Given the description of an element on the screen output the (x, y) to click on. 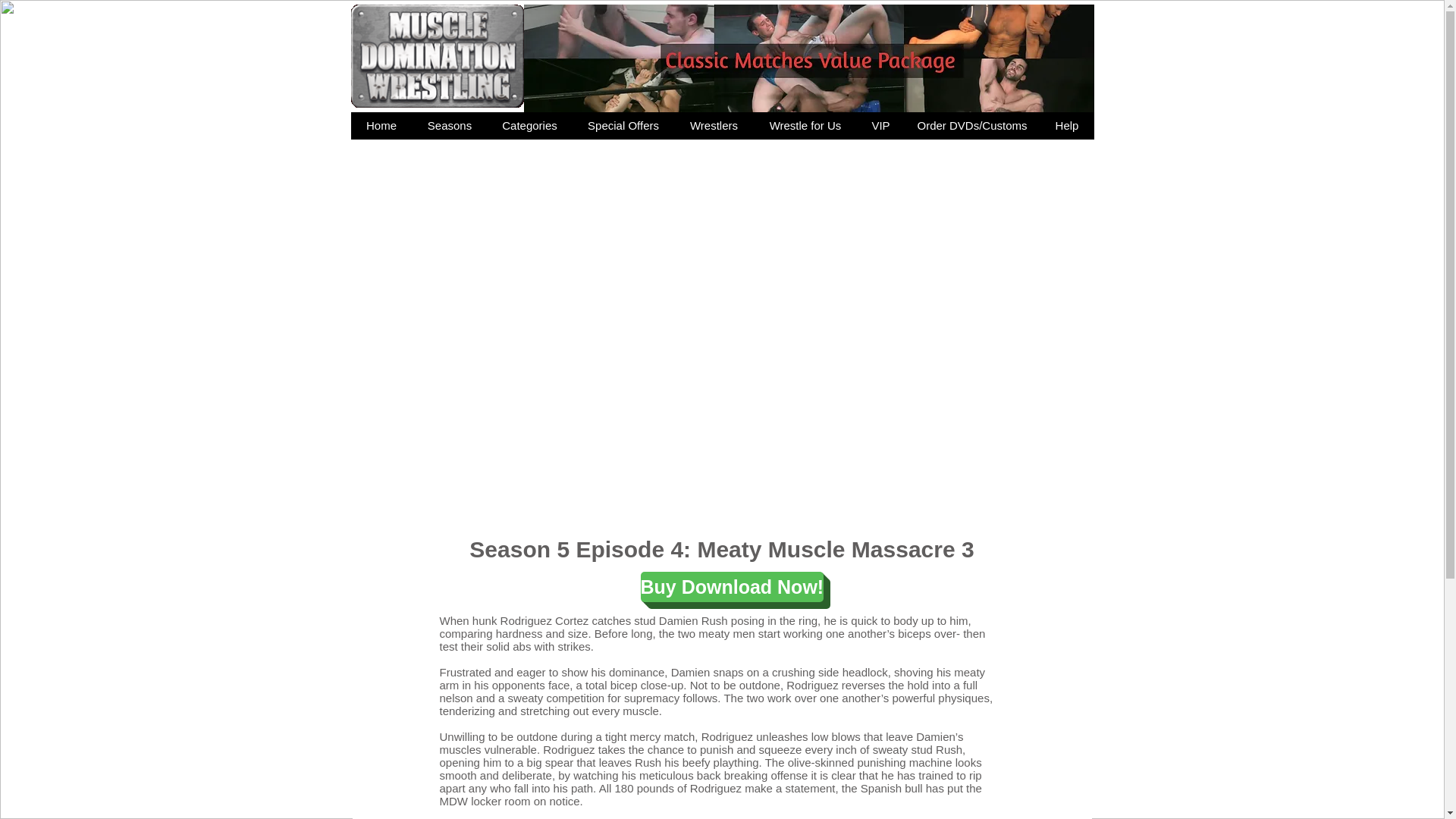
Seasons (449, 125)
Wrestle for Us (805, 125)
VIP (880, 125)
Help (1066, 125)
Special Offers (622, 125)
Buy Download Now! (732, 586)
Home (381, 125)
Wrestlers (712, 125)
